Given the description of an element on the screen output the (x, y) to click on. 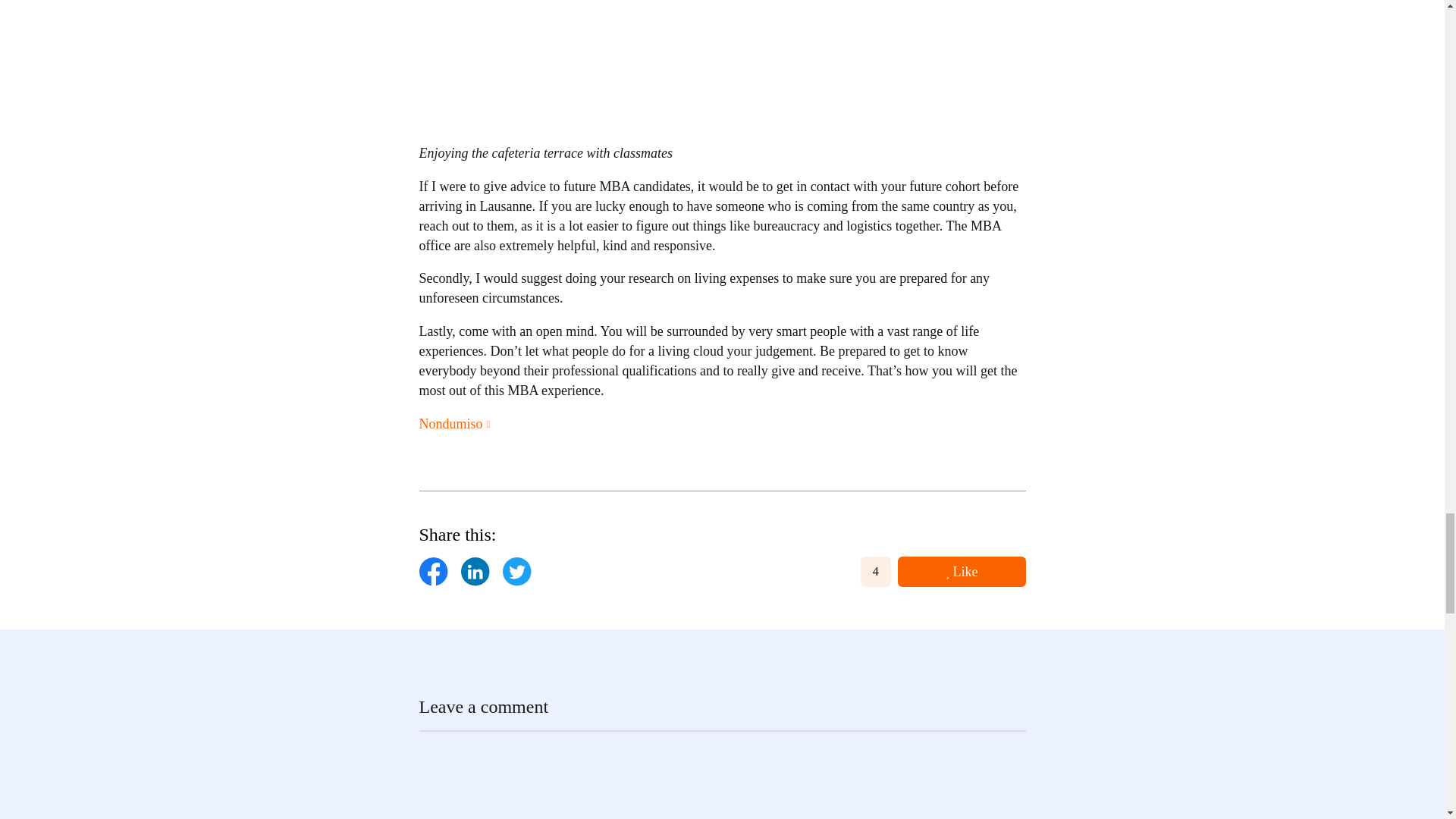
Click to share on Facebook (432, 571)
Nondumiso (454, 424)
Click to share on LinkedIn (475, 571)
Click to share on Twitter (516, 571)
Comment Form (722, 774)
